Given the description of an element on the screen output the (x, y) to click on. 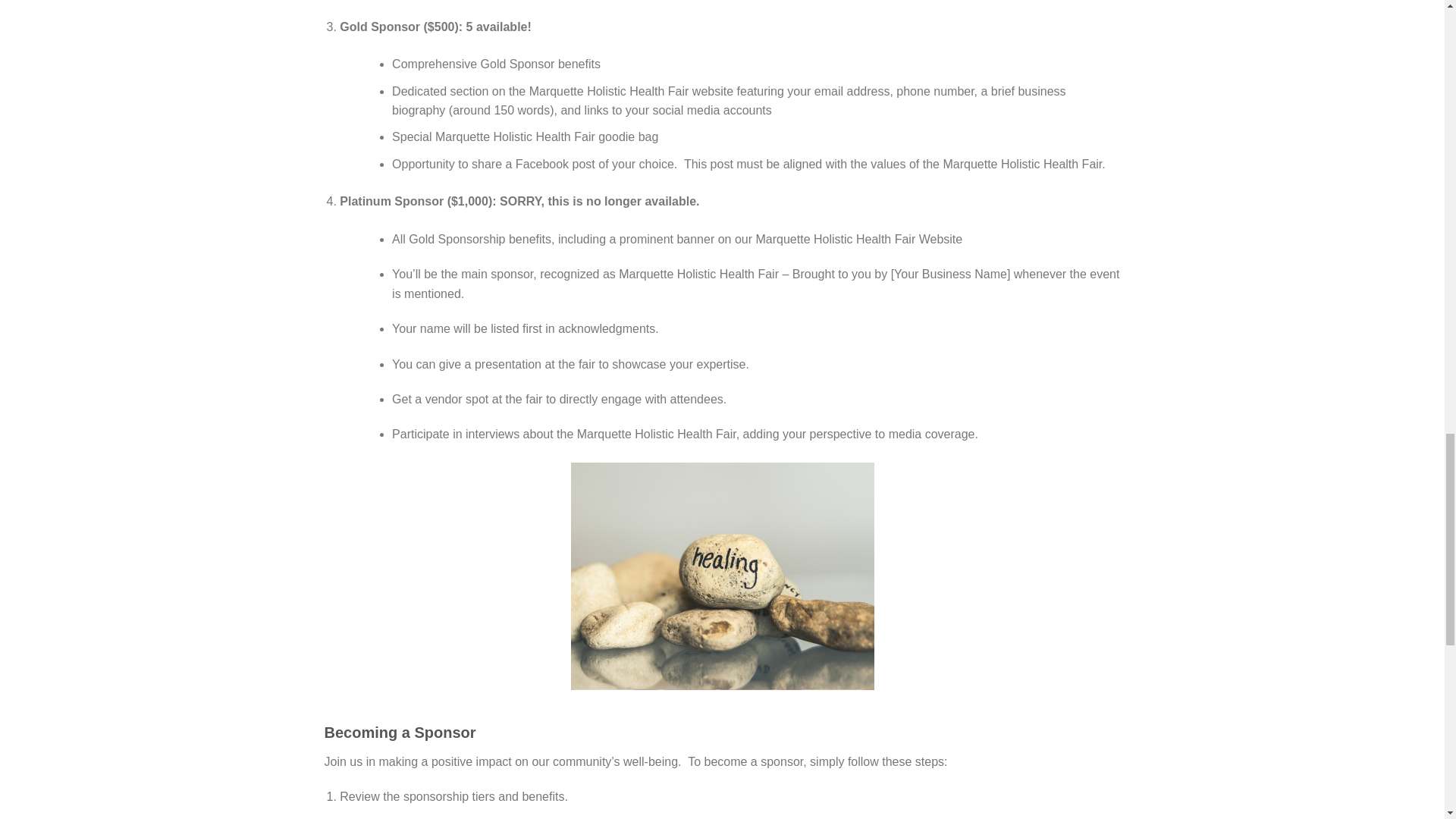
sponsorship form (466, 818)
